Given the description of an element on the screen output the (x, y) to click on. 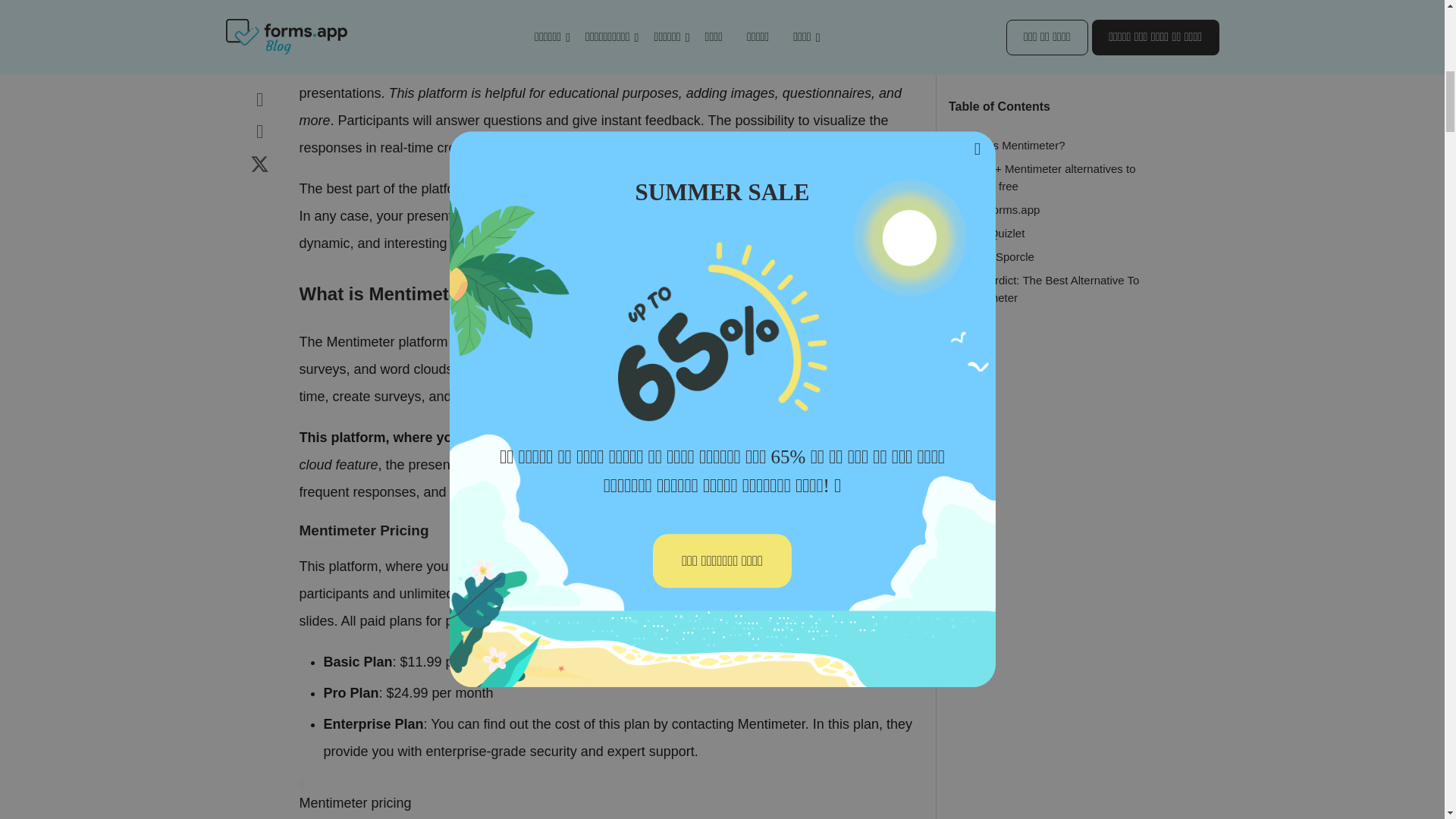
What is Mentimeter? (1012, 100)
10 - Sporcle (1002, 211)
1 - forms.app (1005, 164)
5 - Quizlet (998, 187)
Our verdict: The Best Alternative To Mentimeter (1049, 244)
